Given the description of an element on the screen output the (x, y) to click on. 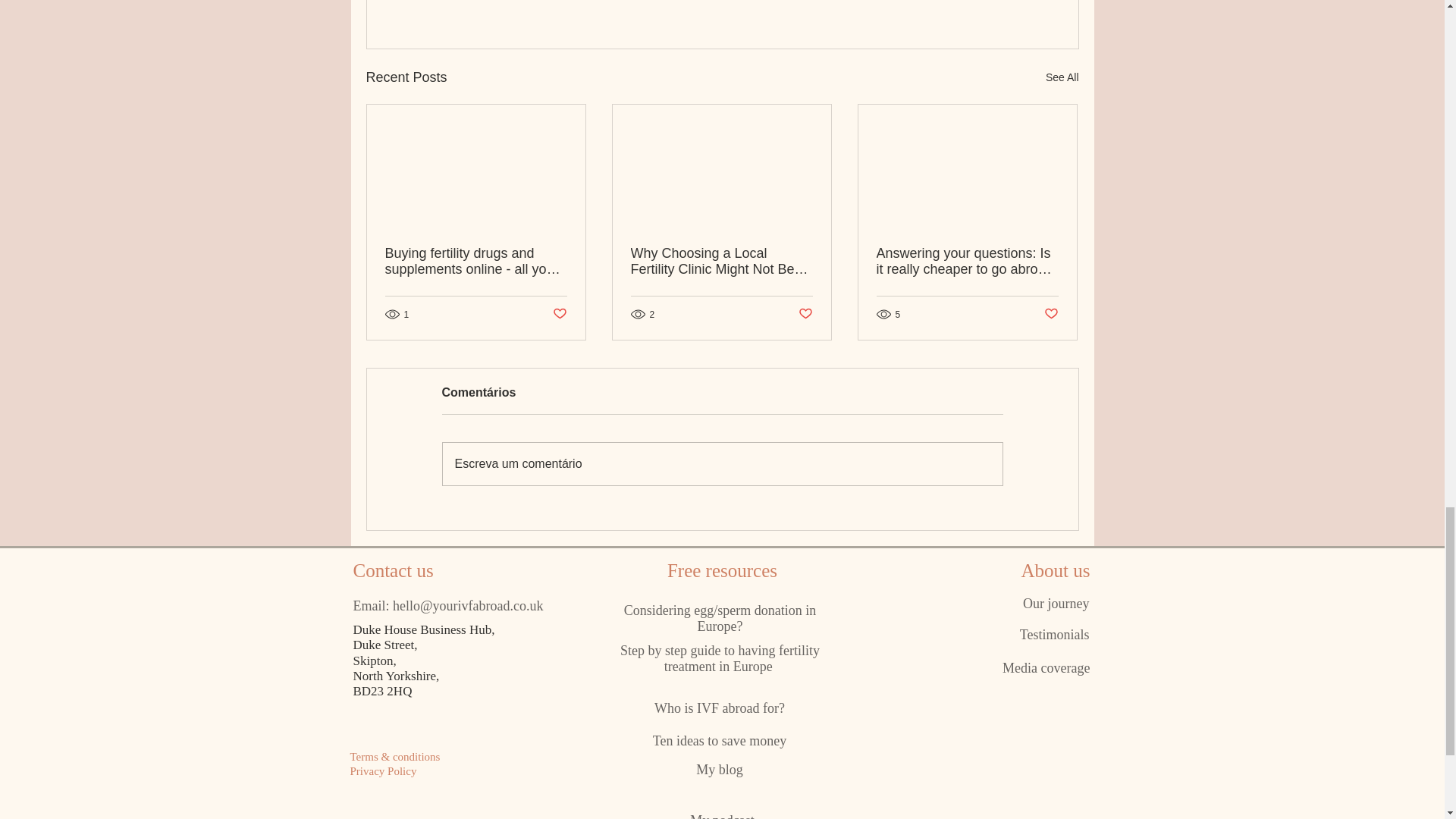
See All (1061, 77)
Post not marked as liked (995, 1)
